Given the description of an element on the screen output the (x, y) to click on. 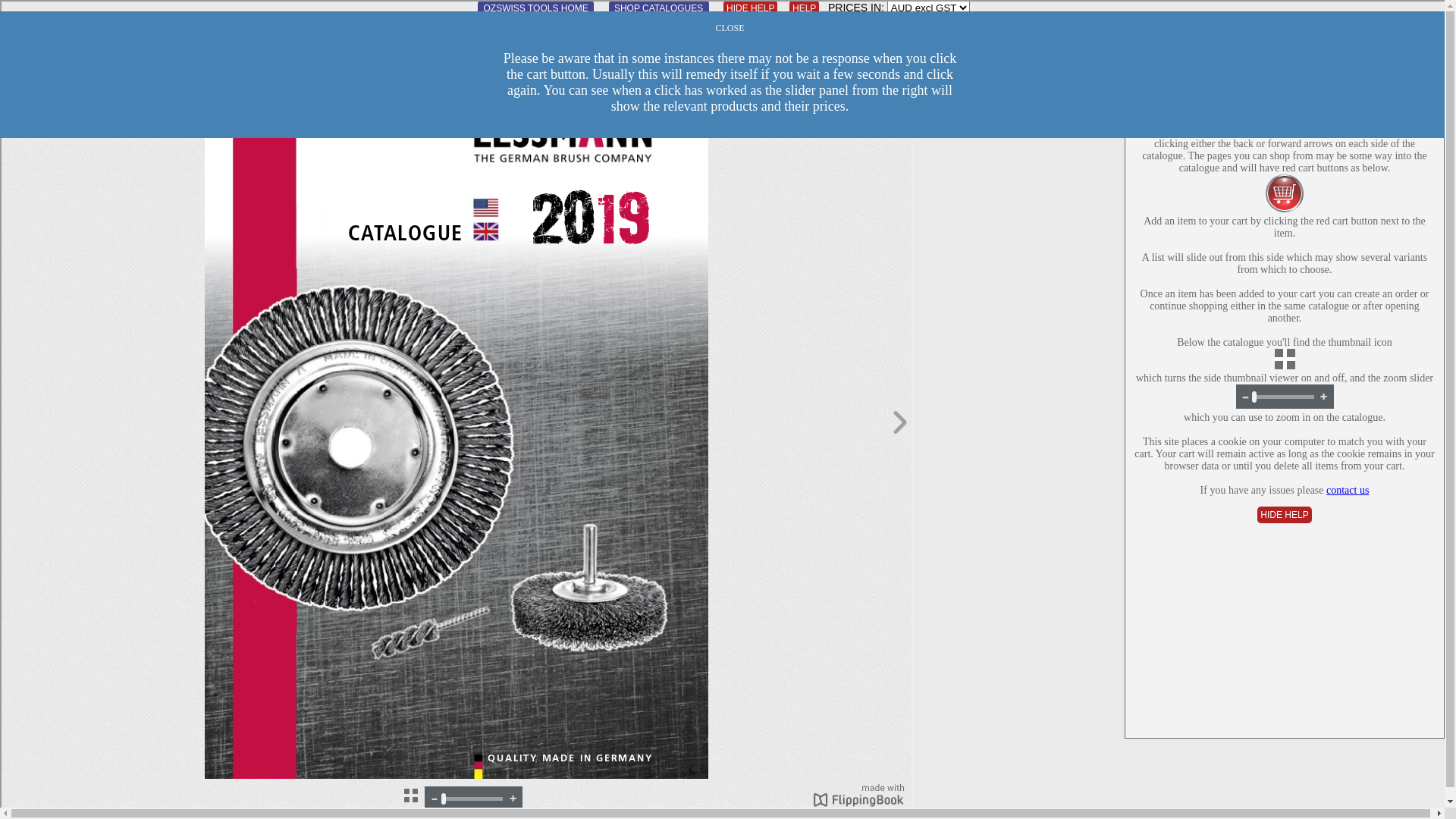
CLOSE Element type: text (729, 27)
HIDE HELP Element type: text (1284, 514)
contact us Element type: text (1347, 489)
